Given the description of an element on the screen output the (x, y) to click on. 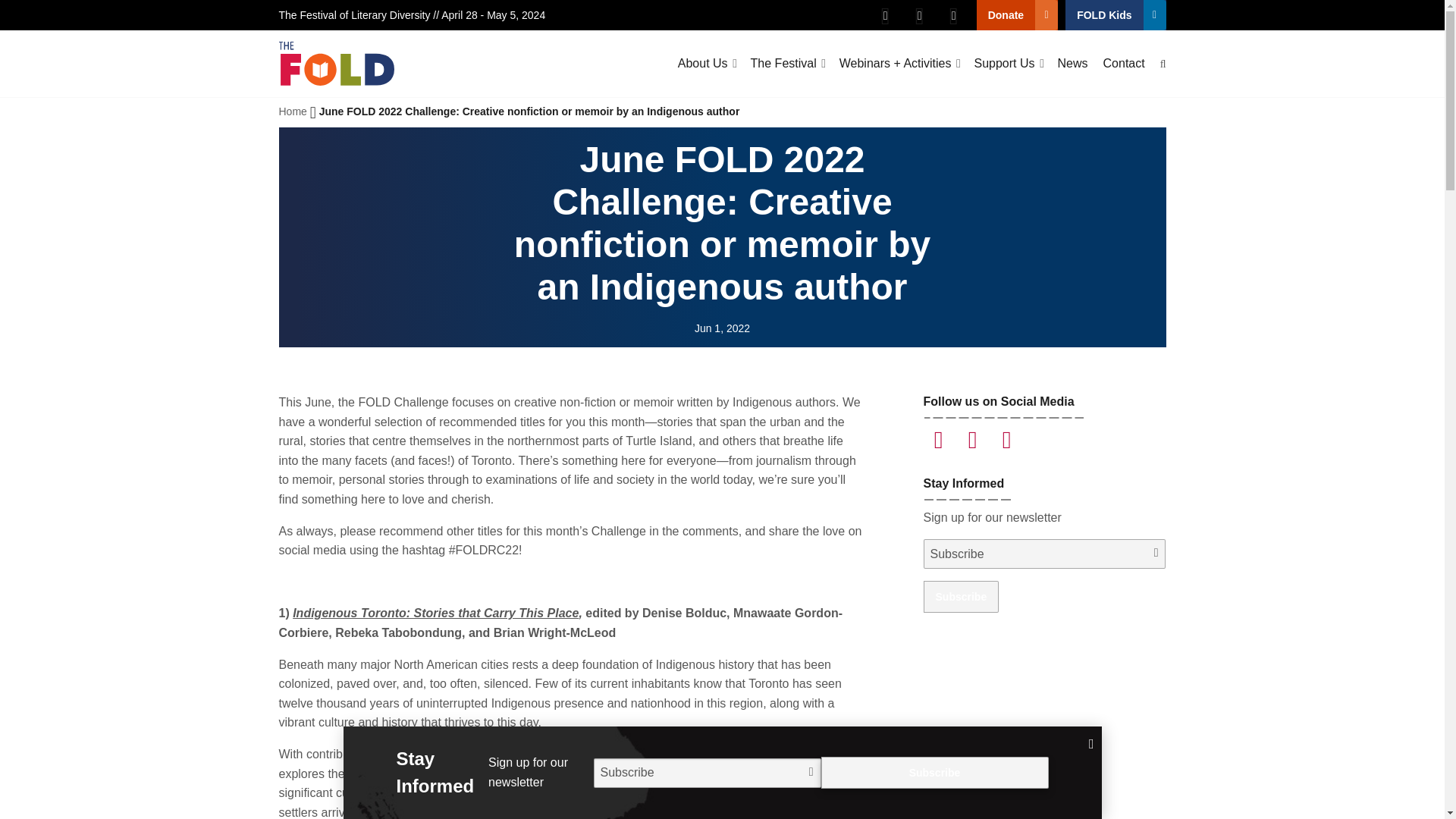
Subscribe (960, 596)
Subscribe (934, 772)
